Given the description of an element on the screen output the (x, y) to click on. 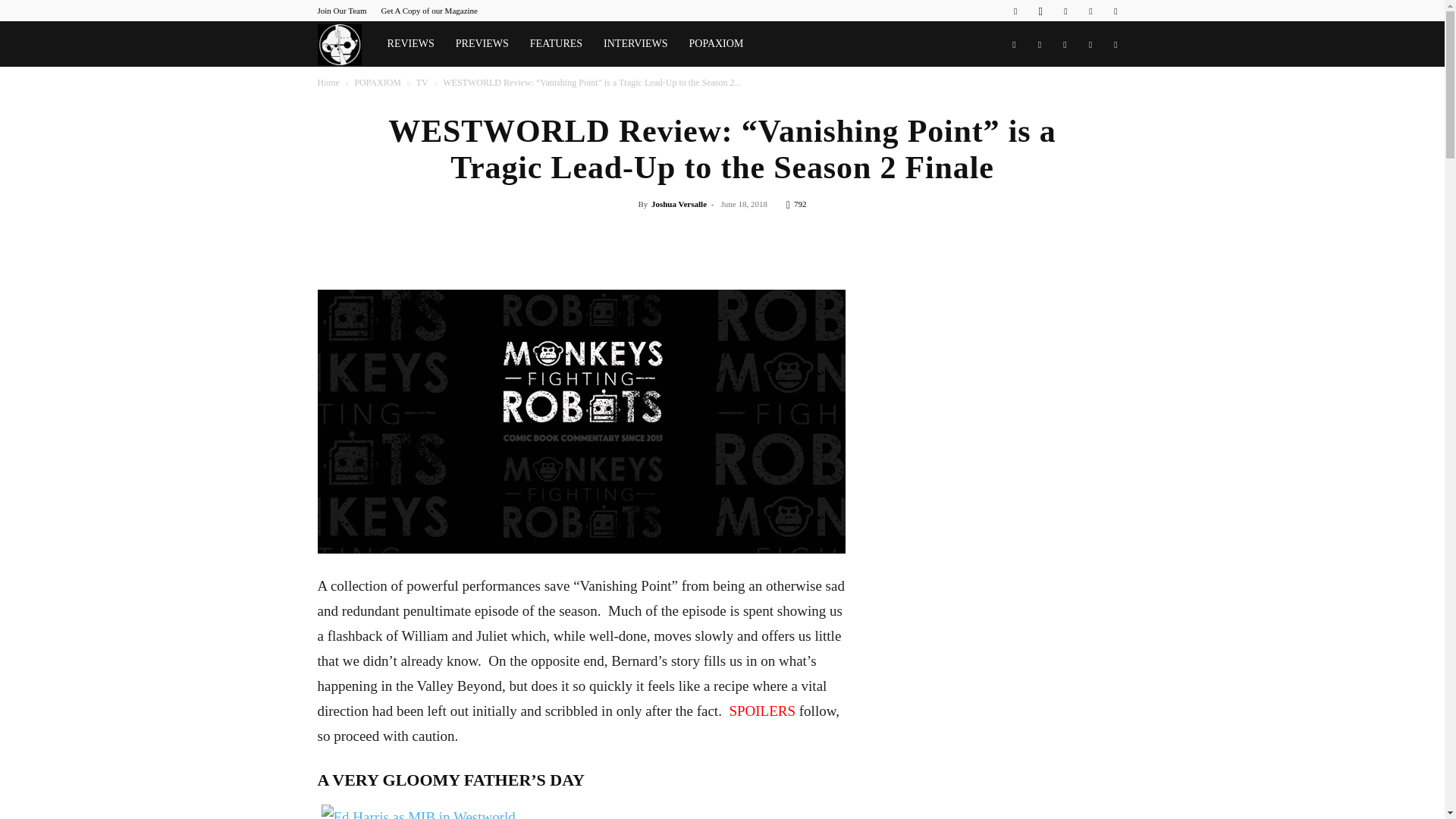
POPAXIOM (716, 43)
POPAXIOM (377, 81)
Twitter (1090, 10)
REVIEWS (411, 43)
TV (422, 81)
INTERVIEWS (635, 43)
PREVIEWS (482, 43)
Joshua Versalle (678, 203)
Reddit (1065, 10)
Home (328, 81)
FEATURES (555, 43)
Instagram (1040, 10)
Get A Copy of our Magazine (429, 10)
Youtube (1114, 10)
Monkeys Fighting Robots (346, 44)
